Given the description of an element on the screen output the (x, y) to click on. 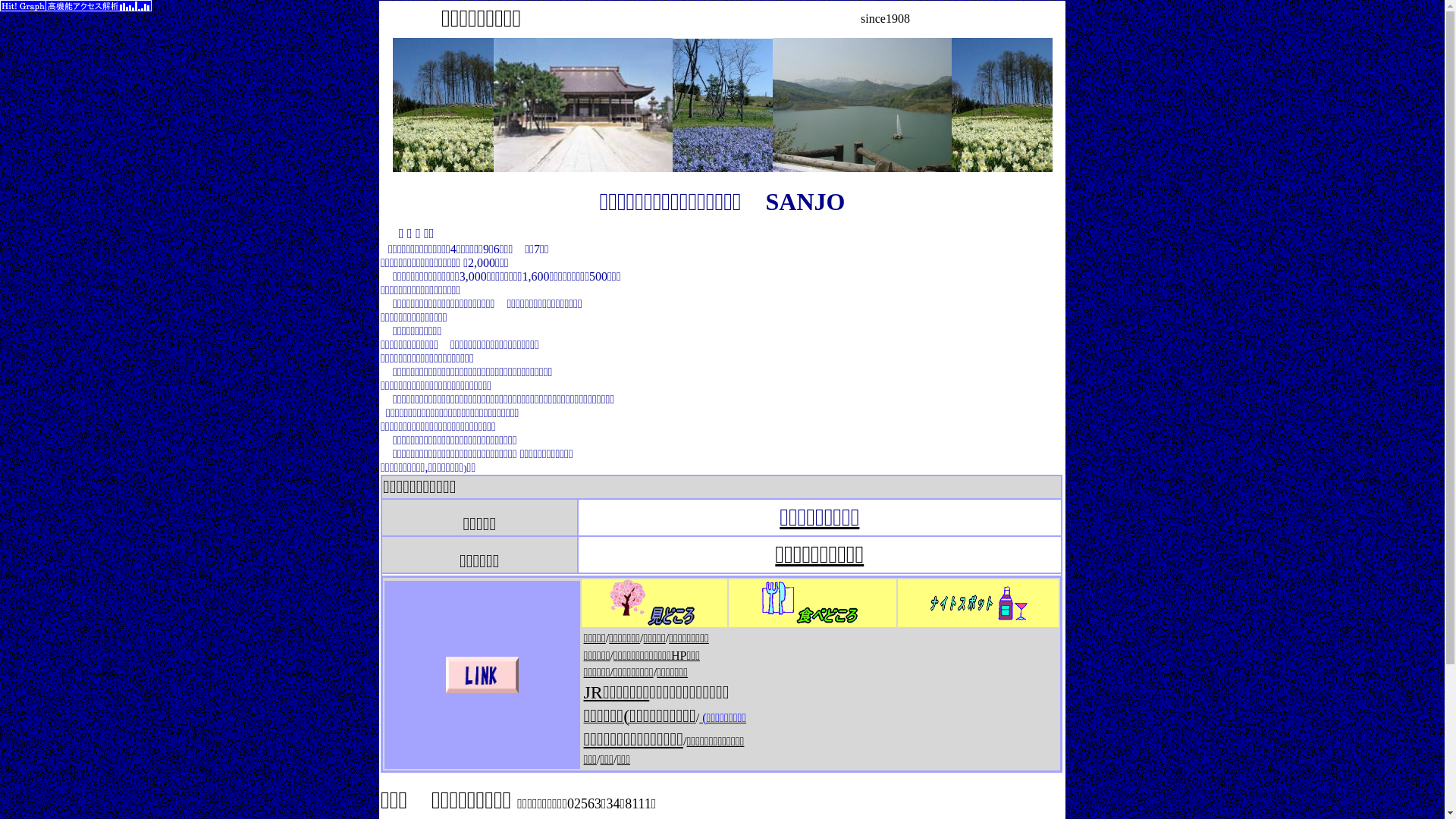
SEO Element type: hover (75, 18)
